Given the description of an element on the screen output the (x, y) to click on. 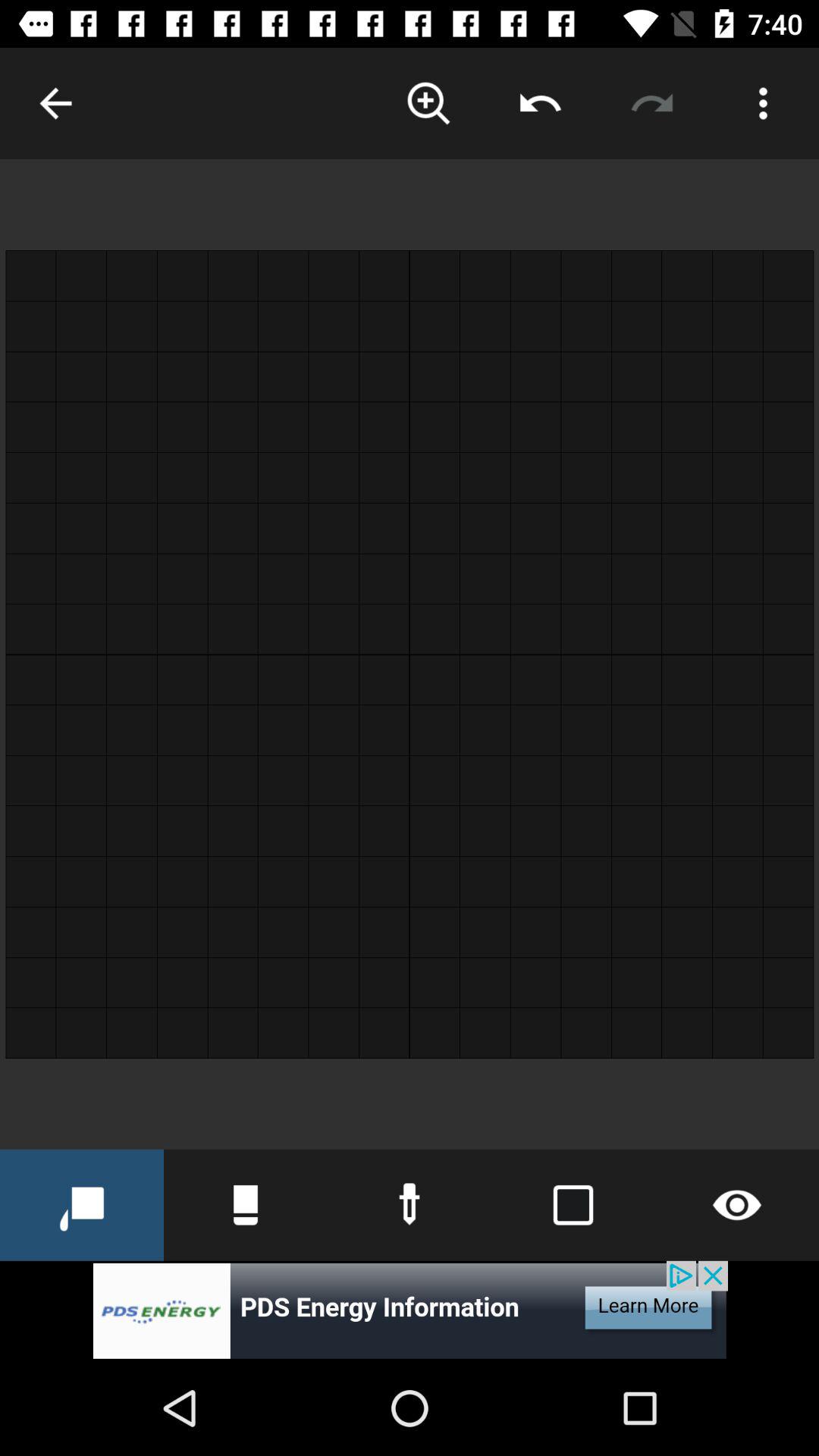
click the left rotate option (540, 103)
